Given the description of an element on the screen output the (x, y) to click on. 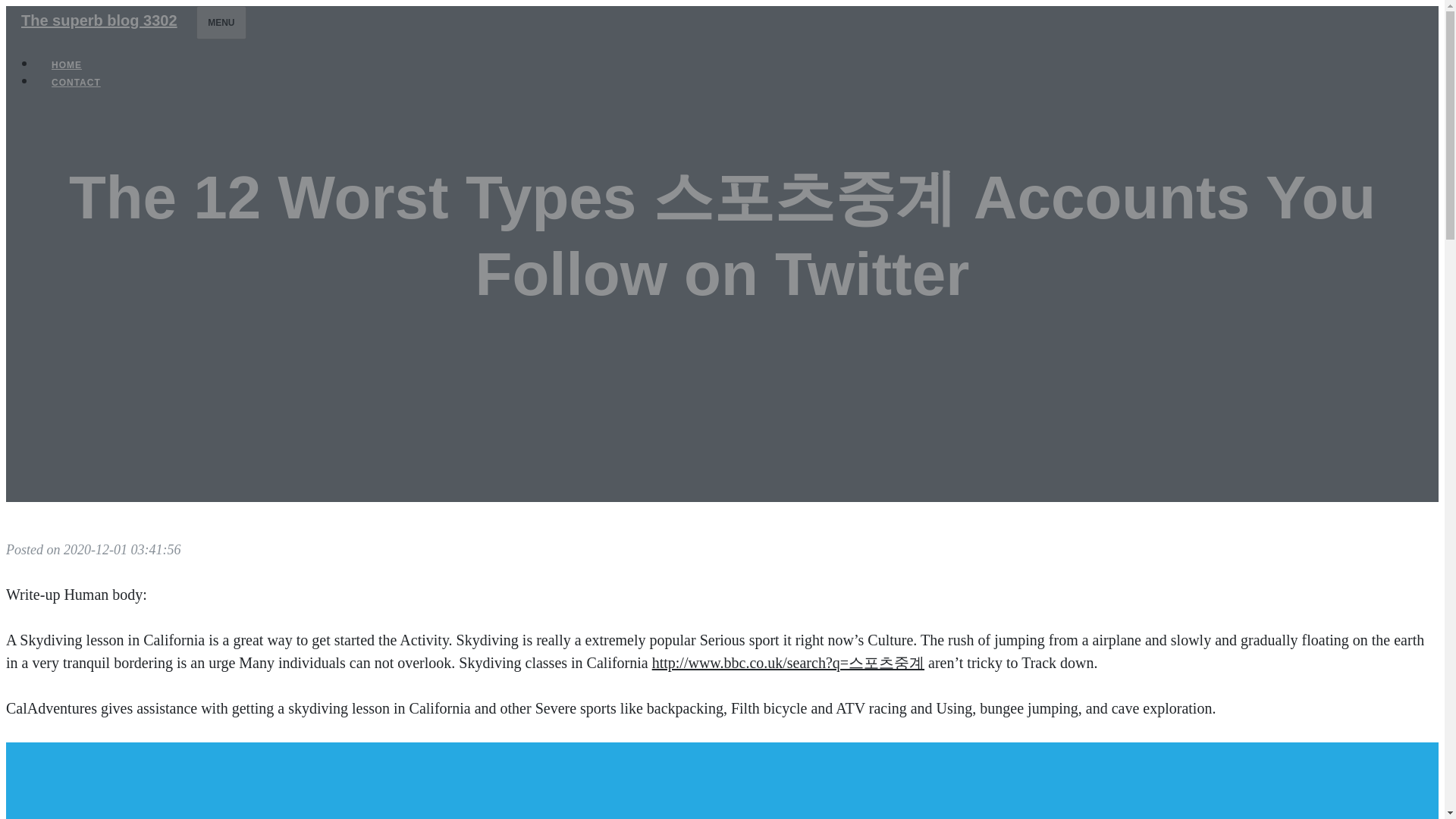
HOME (66, 64)
MENU (221, 22)
CONTACT (76, 82)
The superb blog 3302 (98, 20)
